Given the description of an element on the screen output the (x, y) to click on. 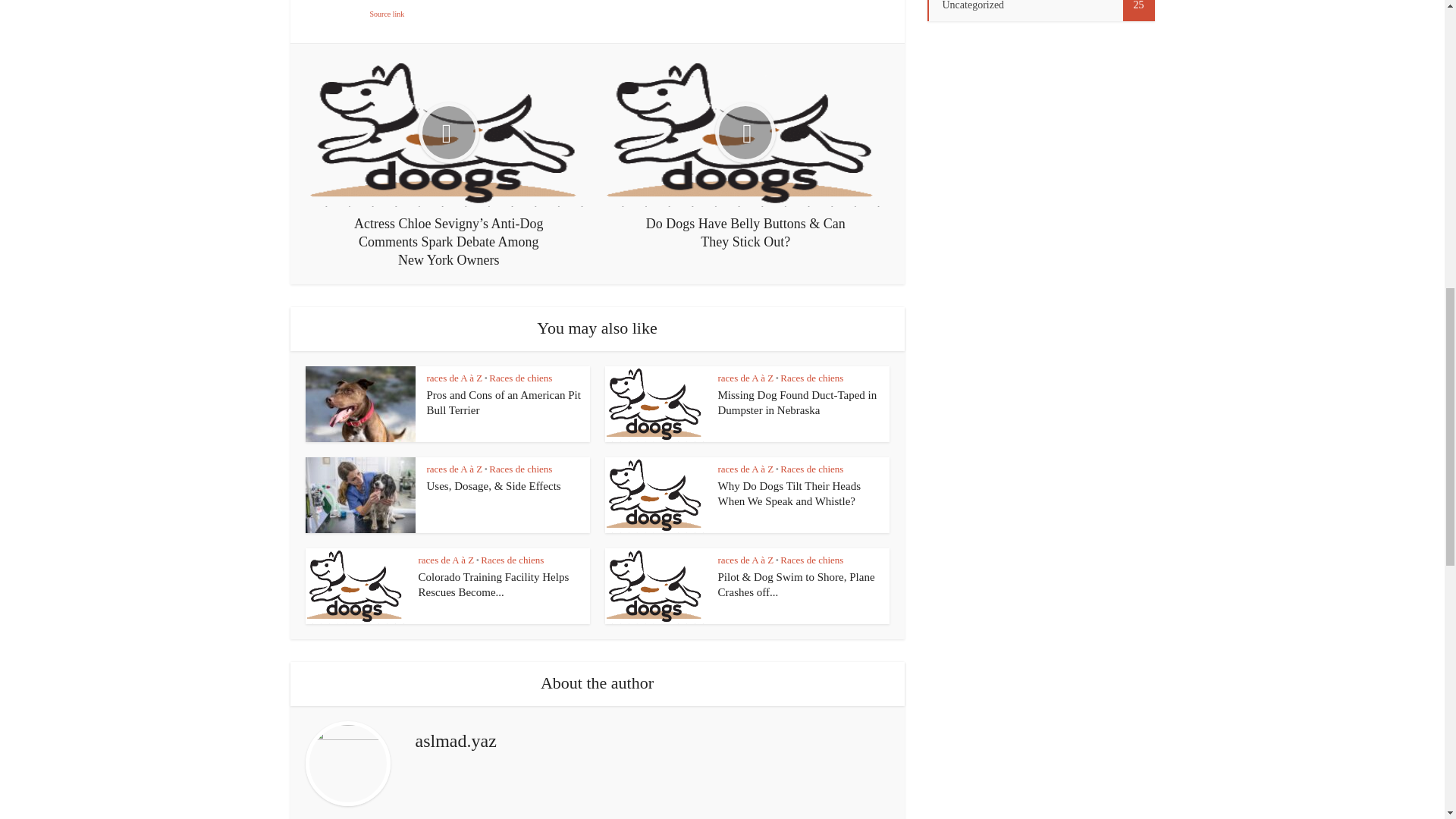
Missing Dog Found Duct-Taped in Dumpster in Nebraska (796, 402)
Why Do Dogs Tilt Their Heads When We Speak and Whistle? (788, 492)
Pros and Cons of an American Pit Bull Terrier (502, 402)
